Given the description of an element on the screen output the (x, y) to click on. 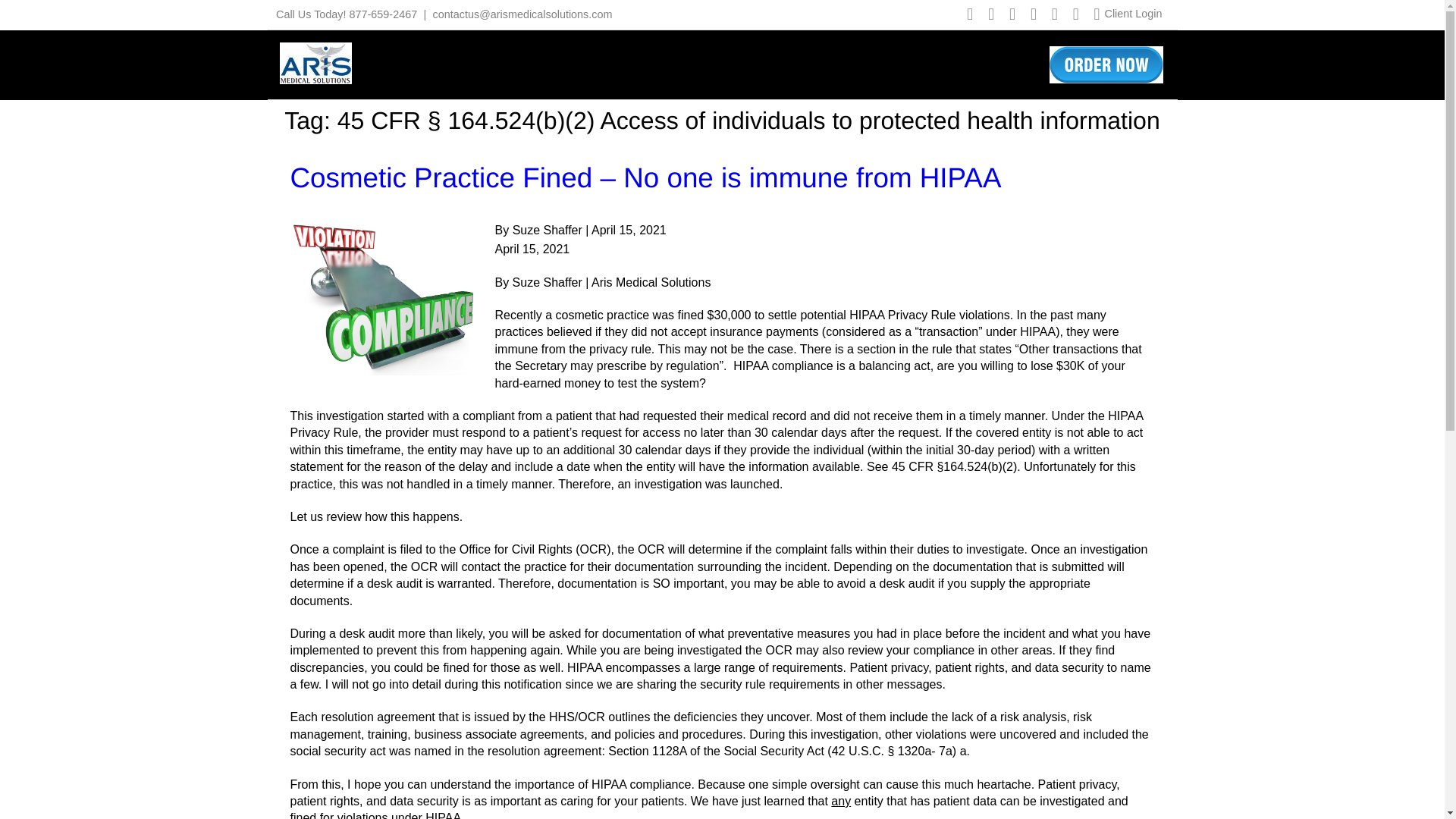
Services (767, 63)
877-659-2467 (384, 14)
Blog (928, 63)
Education (855, 63)
Contact (996, 63)
Home (491, 63)
Client Login (1132, 13)
About (557, 63)
